Given the description of an element on the screen output the (x, y) to click on. 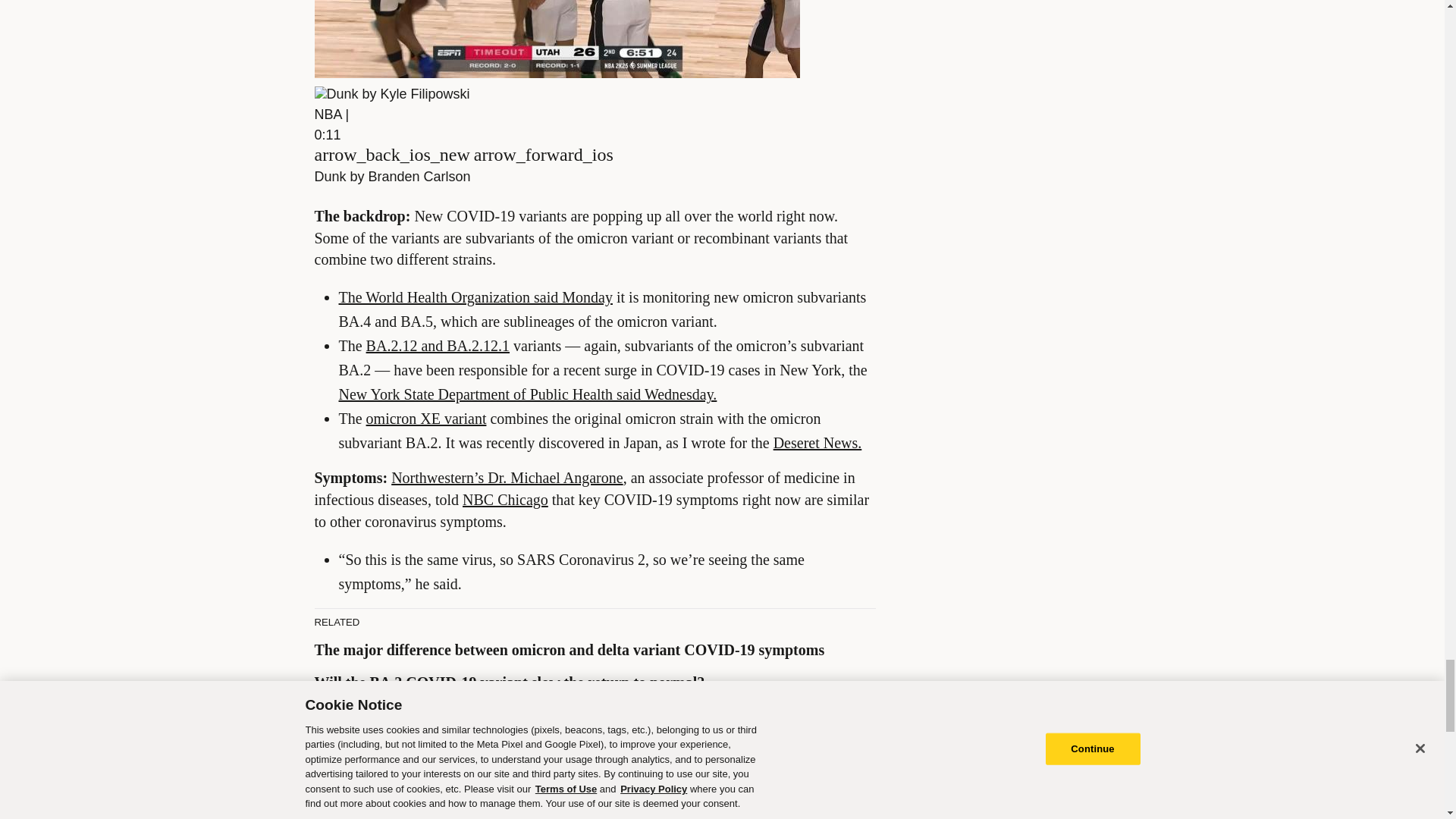
omicron XE variant (426, 418)
BA.2.12 and BA.2.12.1 (437, 345)
New York State Department of Public Health said Wednesday. (526, 393)
The World Health Organization said Monday (474, 297)
Will the BA.2 COVID-19 variant slow the return to normal? (509, 682)
NBC Chicago (757, 768)
NBC Chicago (505, 499)
Deseret News. (817, 442)
